Given the description of an element on the screen output the (x, y) to click on. 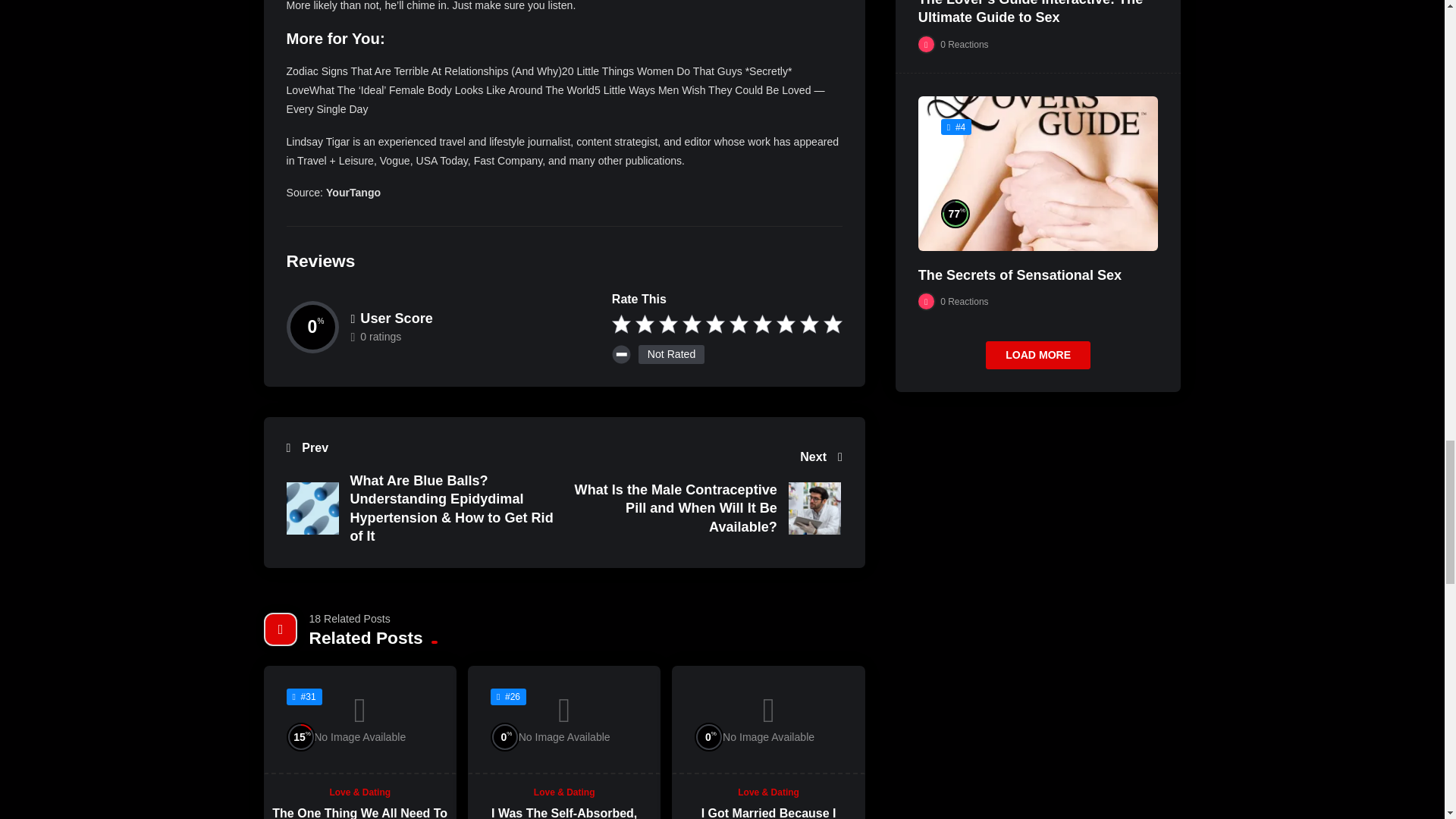
Clear (622, 355)
Four Stars (691, 324)
No Image Available (564, 719)
One Star (620, 324)
No Image Available (360, 719)
Prev (421, 447)
Five Stars (715, 324)
Two Stars (643, 324)
Next (707, 457)
The One Thing We All Need To Succeed And Thrive (359, 812)
Three Stars (668, 324)
